Given the description of an element on the screen output the (x, y) to click on. 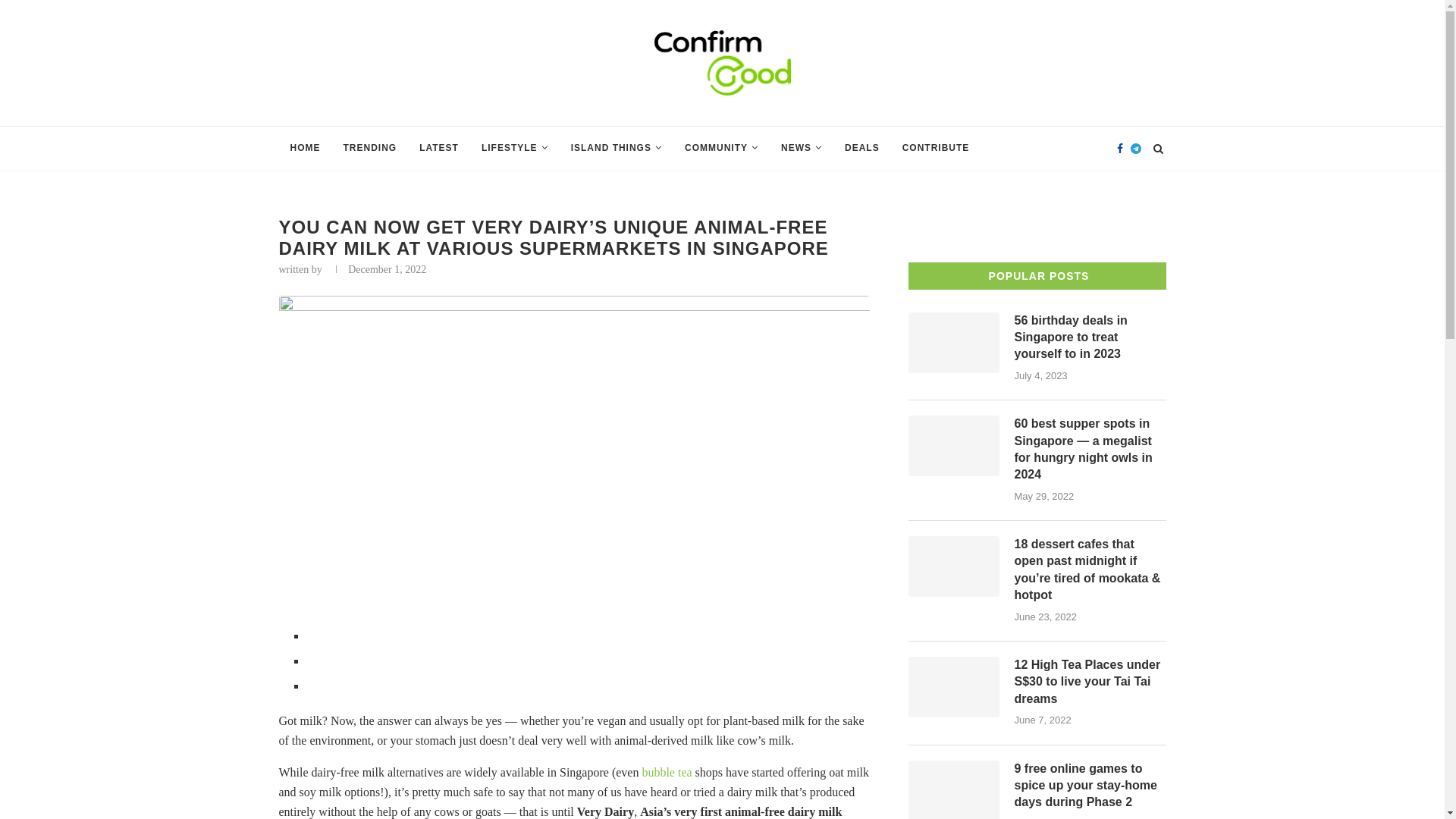
TRENDING (370, 148)
HOME (305, 148)
LATEST (438, 148)
LIFESTYLE (514, 148)
ISLAND THINGS (615, 148)
